Given the description of an element on the screen output the (x, y) to click on. 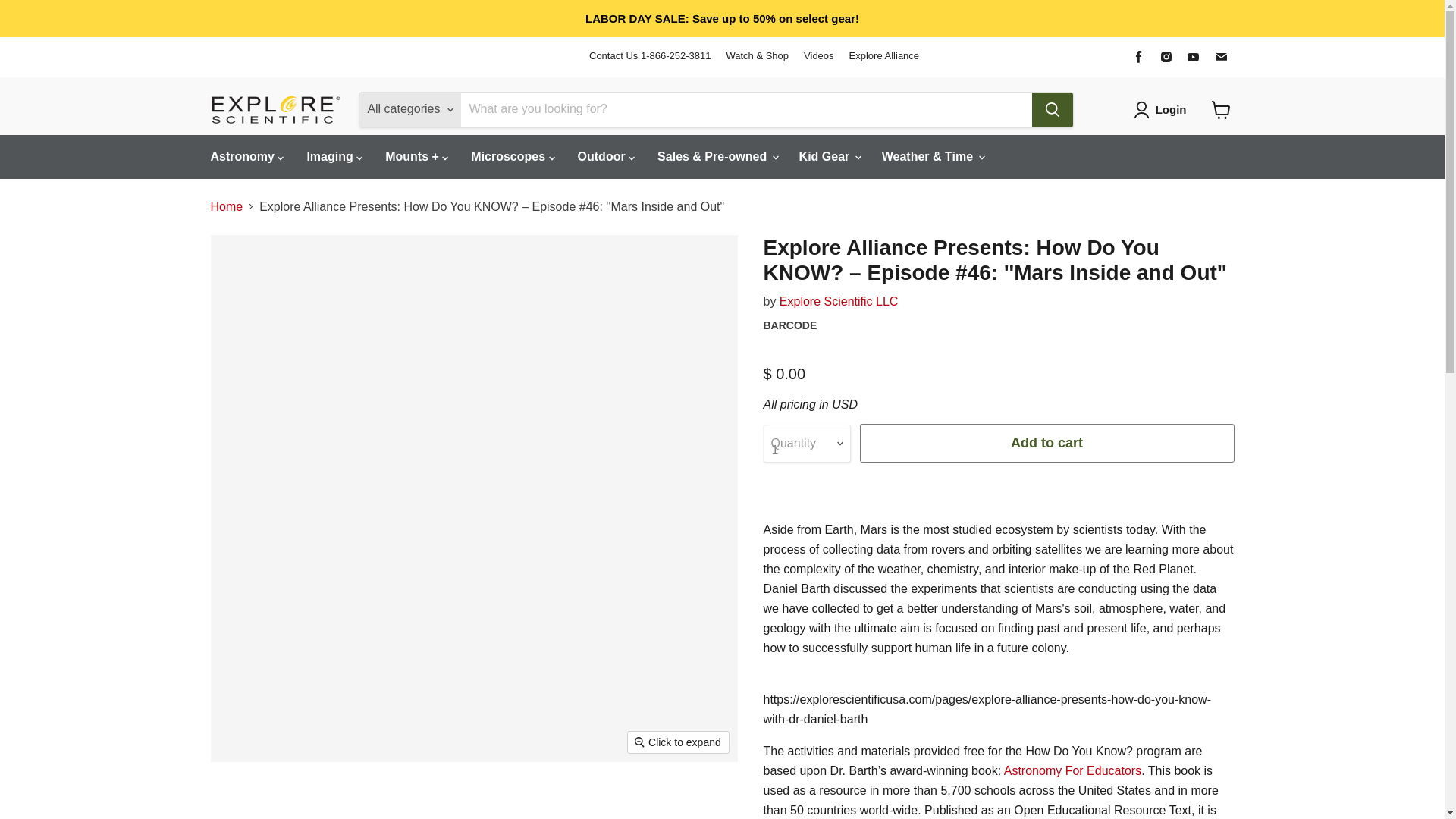
Astronomy for Educators Free e-Book (1072, 770)
Page 1 (997, 709)
Email (1220, 55)
Find us on Instagram (1166, 55)
Contact Us 1-866-252-3811 (649, 56)
Find us on Facebook (1139, 55)
Find us on Youtube (1193, 55)
Find us on Email (1220, 55)
